Given the description of an element on the screen output the (x, y) to click on. 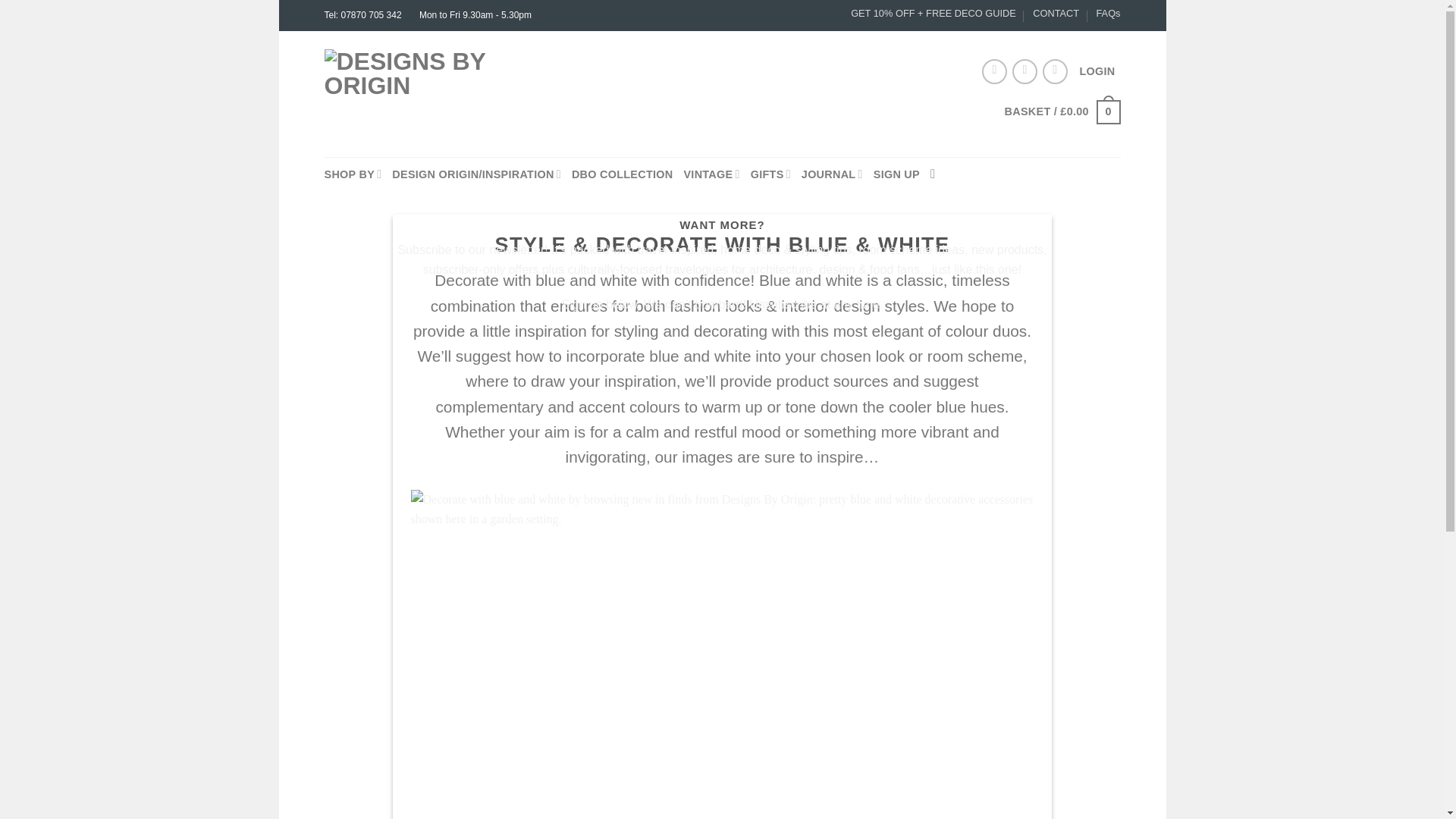
Designs By Origin (418, 94)
Tel: 07870 705 342 (364, 14)
SHOP BY (352, 174)
